Given the description of an element on the screen output the (x, y) to click on. 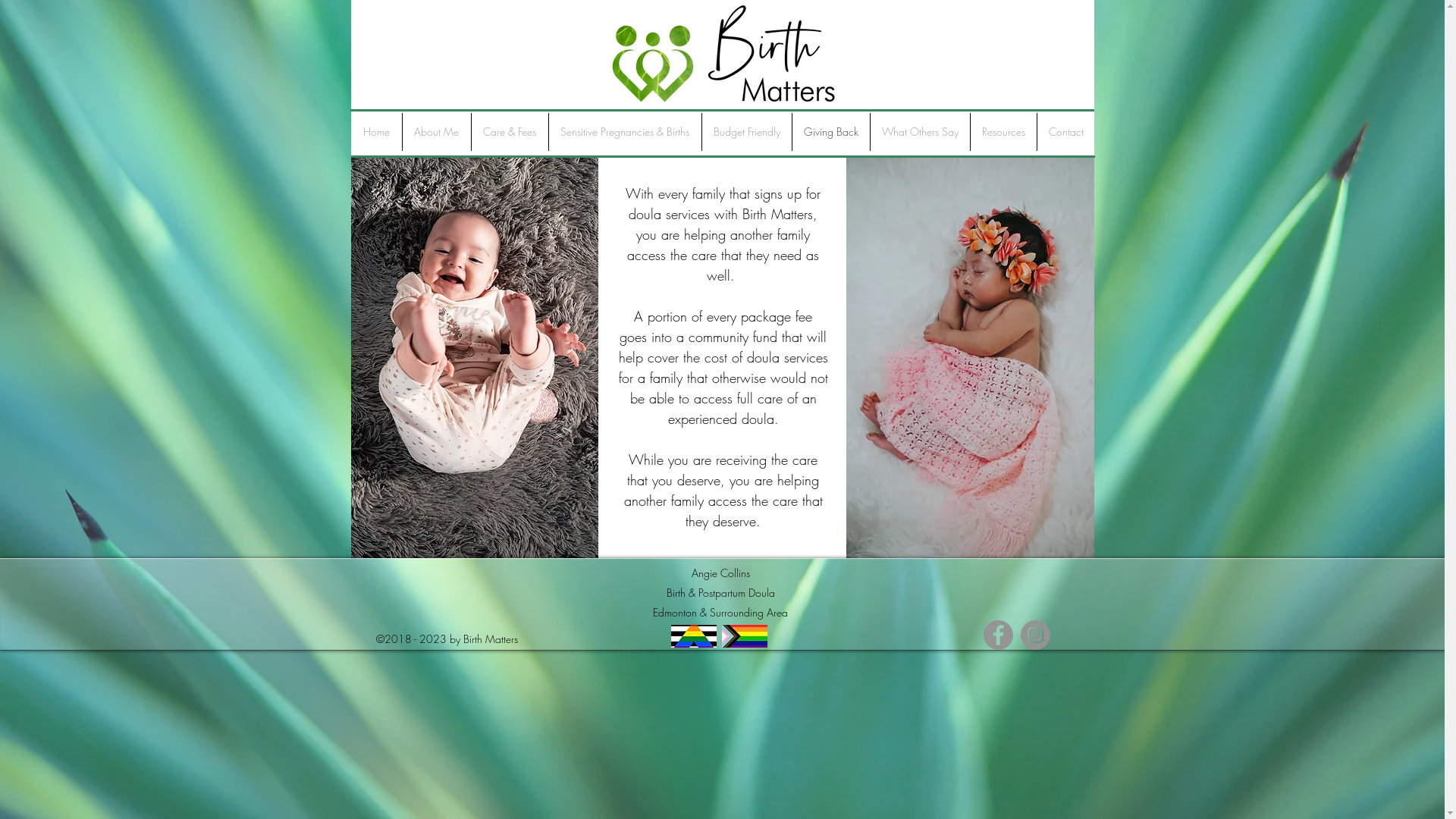
About Me Element type: text (435, 131)
Care & Fees Element type: text (509, 131)
Budget Friendly Element type: text (746, 131)
Sensitive Pregnancies & Births Element type: text (625, 131)
What Others Say Element type: text (919, 131)
Contact Element type: text (1066, 131)
Giving Back Element type: text (830, 131)
Resources Element type: text (1003, 131)
Home Element type: text (376, 131)
